Given the description of an element on the screen output the (x, y) to click on. 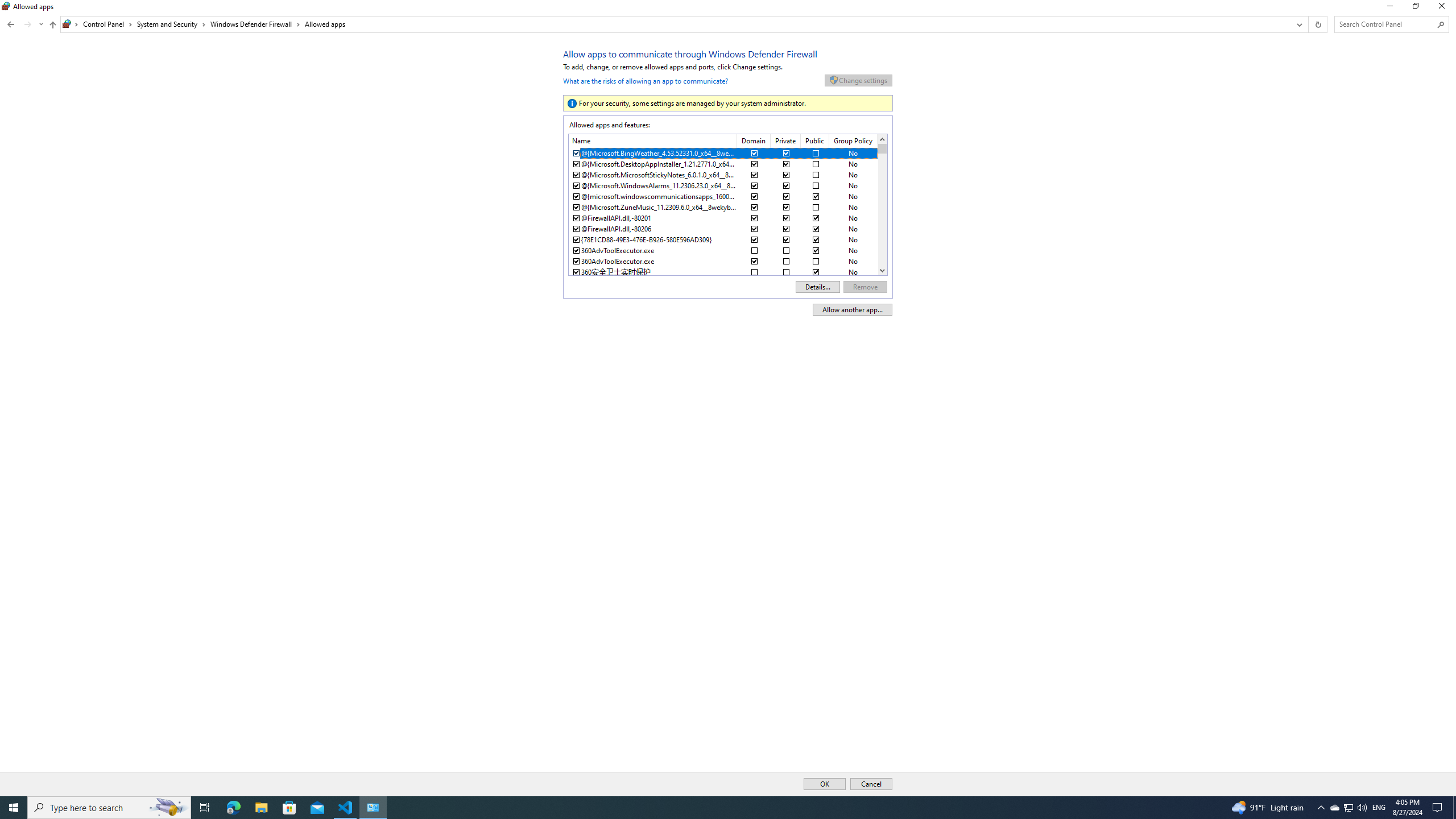
Remove (865, 286)
Task View (204, 807)
Visual Studio Code - 1 running window (345, 807)
Microsoft Store (289, 807)
Allow another app... (852, 309)
Control Panel - 1 running window (373, 807)
Vertical (881, 204)
Search Box (1347, 807)
Forward (Alt + Right Arrow) (1386, 23)
Line up (1333, 807)
Line down (27, 23)
